Given the description of an element on the screen output the (x, y) to click on. 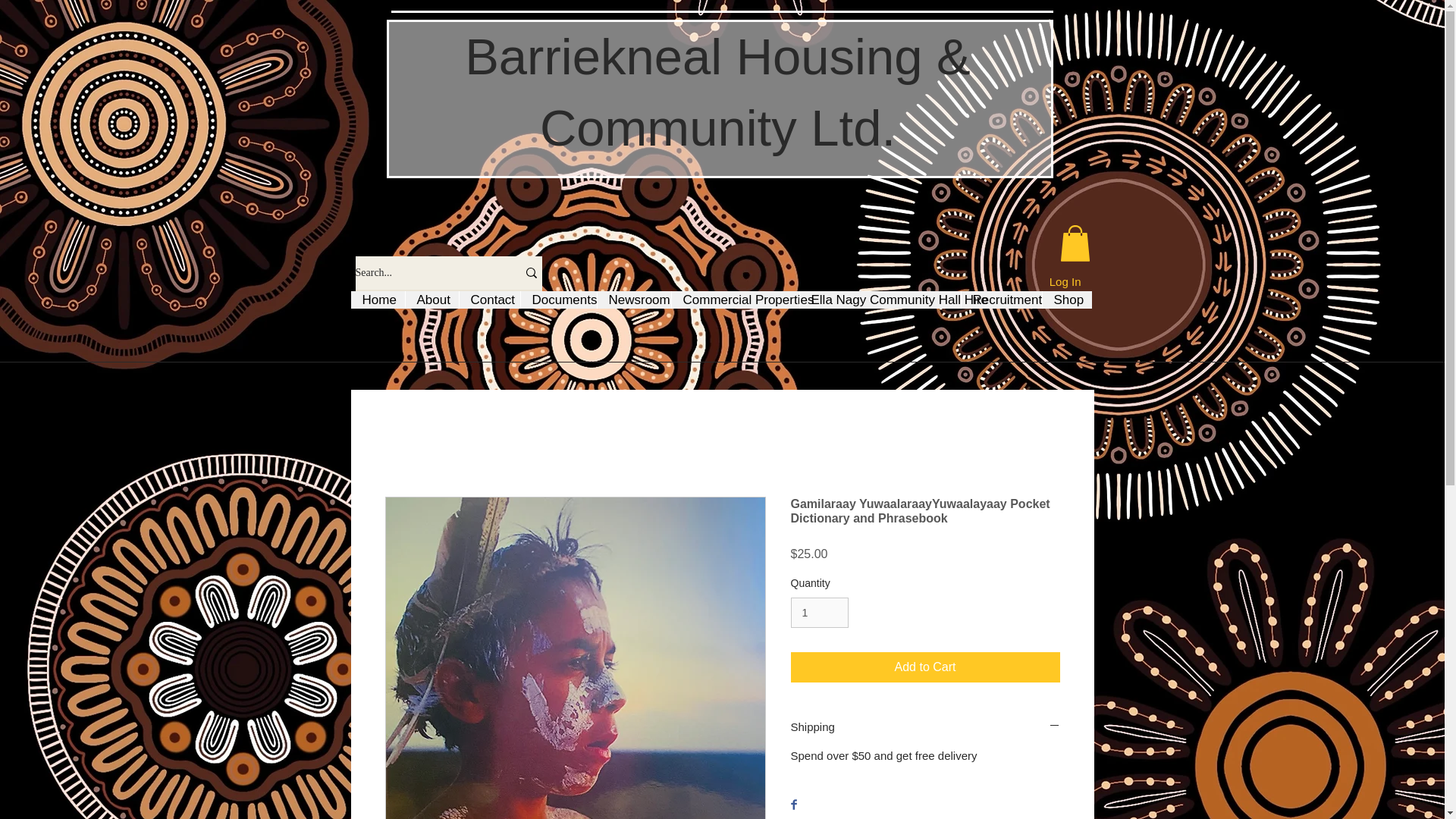
1 (818, 612)
Log In (1065, 281)
Shipping (924, 726)
Contact (488, 299)
Recruitment (1000, 299)
About (431, 299)
Shop (1067, 299)
Commercial Properties (733, 299)
Ella Nagy Community Hall Hire (879, 299)
Add to Cart (924, 666)
